Given the description of an element on the screen output the (x, y) to click on. 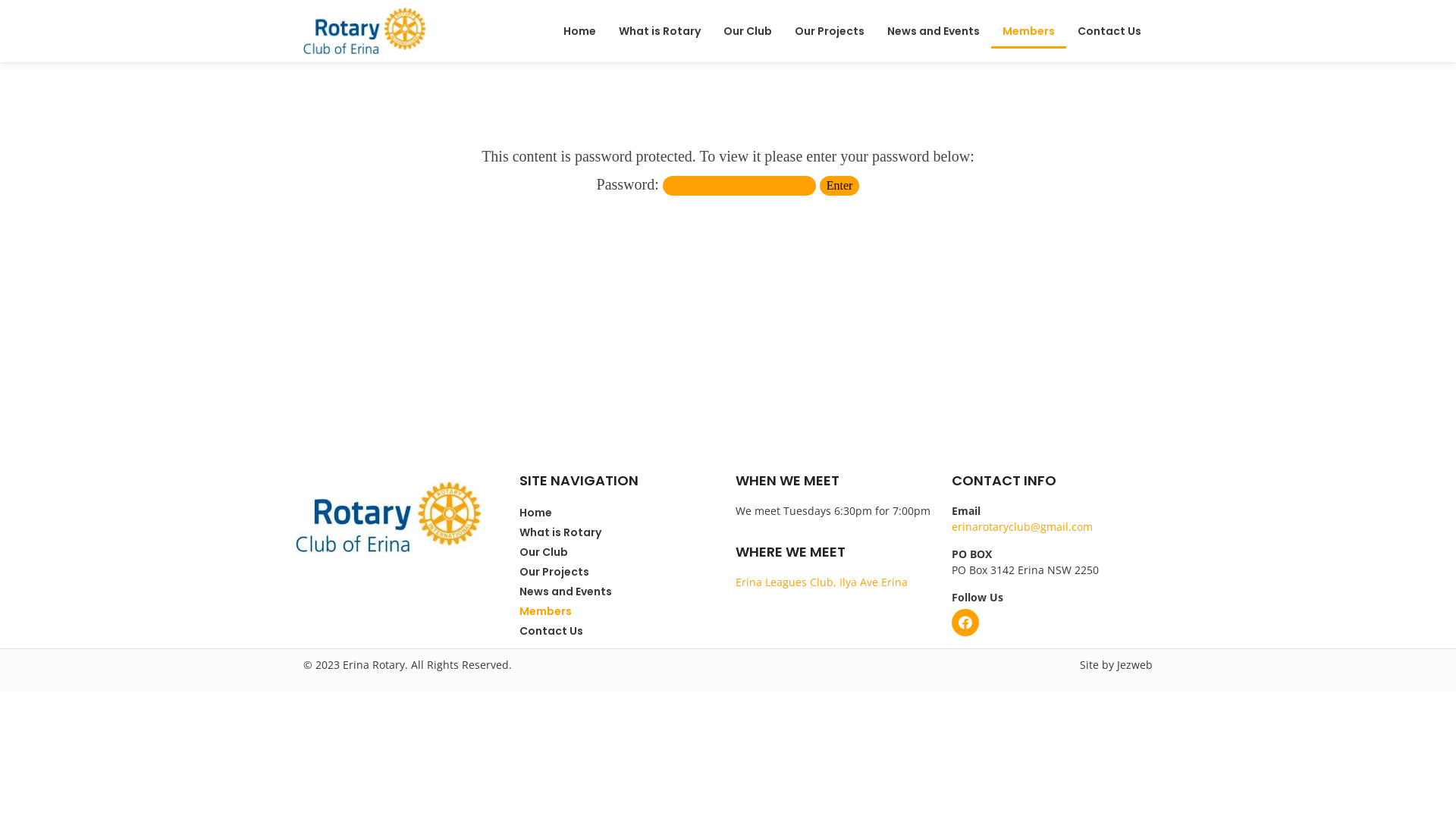
Our Projects Element type: text (619, 571)
Our Club Element type: text (747, 30)
What is Rotary Element type: text (619, 532)
Home Element type: text (579, 30)
News and Events Element type: text (933, 30)
Site by Jezweb Element type: text (1115, 664)
Contact Us Element type: text (1109, 30)
What is Rotary Element type: text (659, 30)
Members Element type: text (619, 611)
Erina Leagues Club, Ilya Ave Erina Element type: text (821, 581)
Enter Element type: text (839, 185)
Our Projects Element type: text (829, 30)
Our Club Element type: text (619, 551)
Home Element type: text (619, 512)
erinarotaryclub@gmail.com Element type: text (1021, 526)
Contact Us Element type: text (619, 630)
News and Events Element type: text (619, 591)
Members Element type: text (1028, 30)
